Given the description of an element on the screen output the (x, y) to click on. 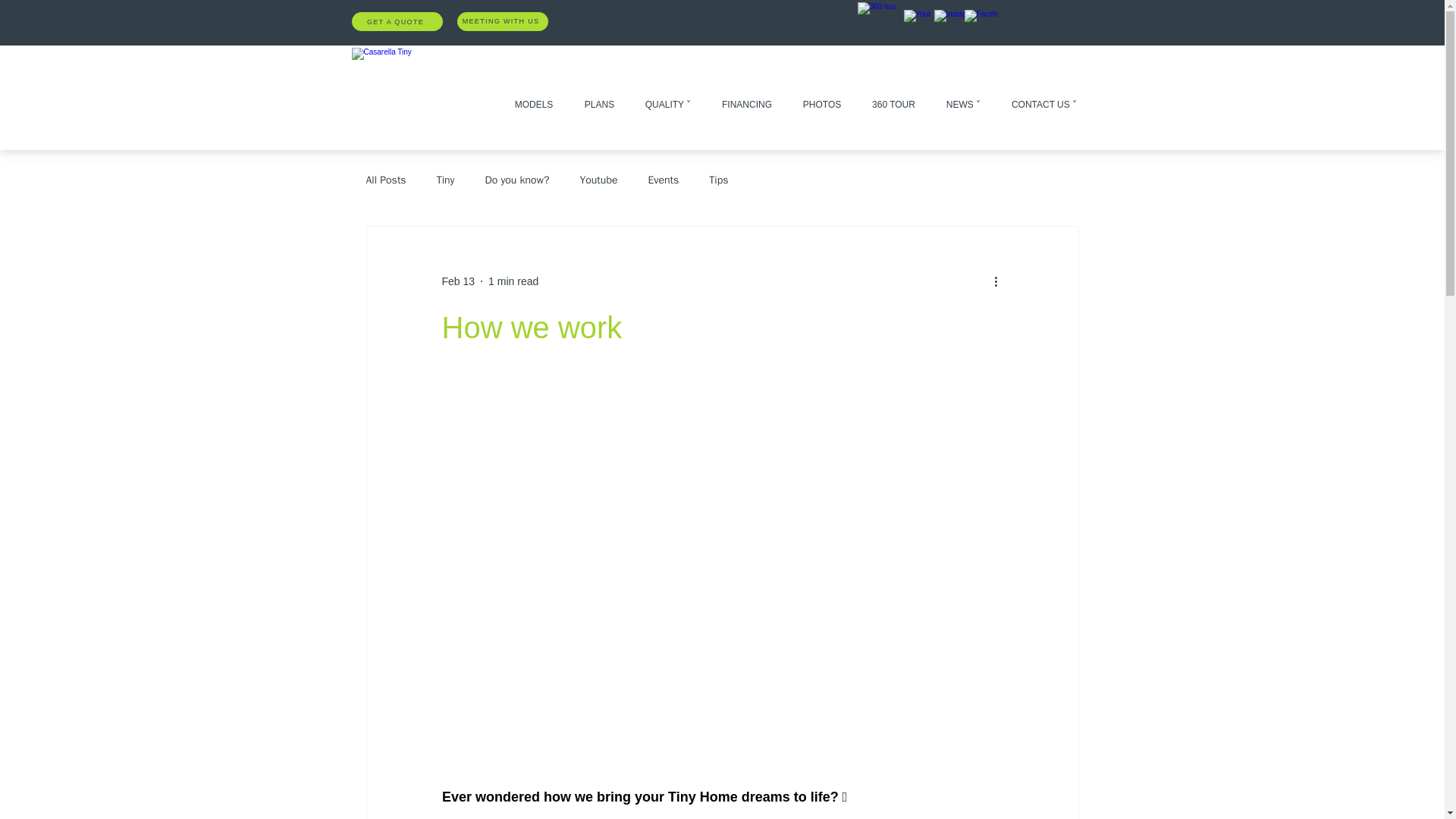
FINANCING (746, 97)
PLANS (598, 97)
Youtube (598, 180)
Events (662, 180)
Feb 13 (457, 280)
1 min read (512, 280)
MEETING WITH US (502, 21)
360 TOUR (894, 97)
GET A QUOTE (397, 21)
Tips (718, 180)
PHOTOS (821, 97)
Do you know? (516, 180)
Tiny (445, 180)
All Posts (385, 180)
MODELS (534, 97)
